Given the description of an element on the screen output the (x, y) to click on. 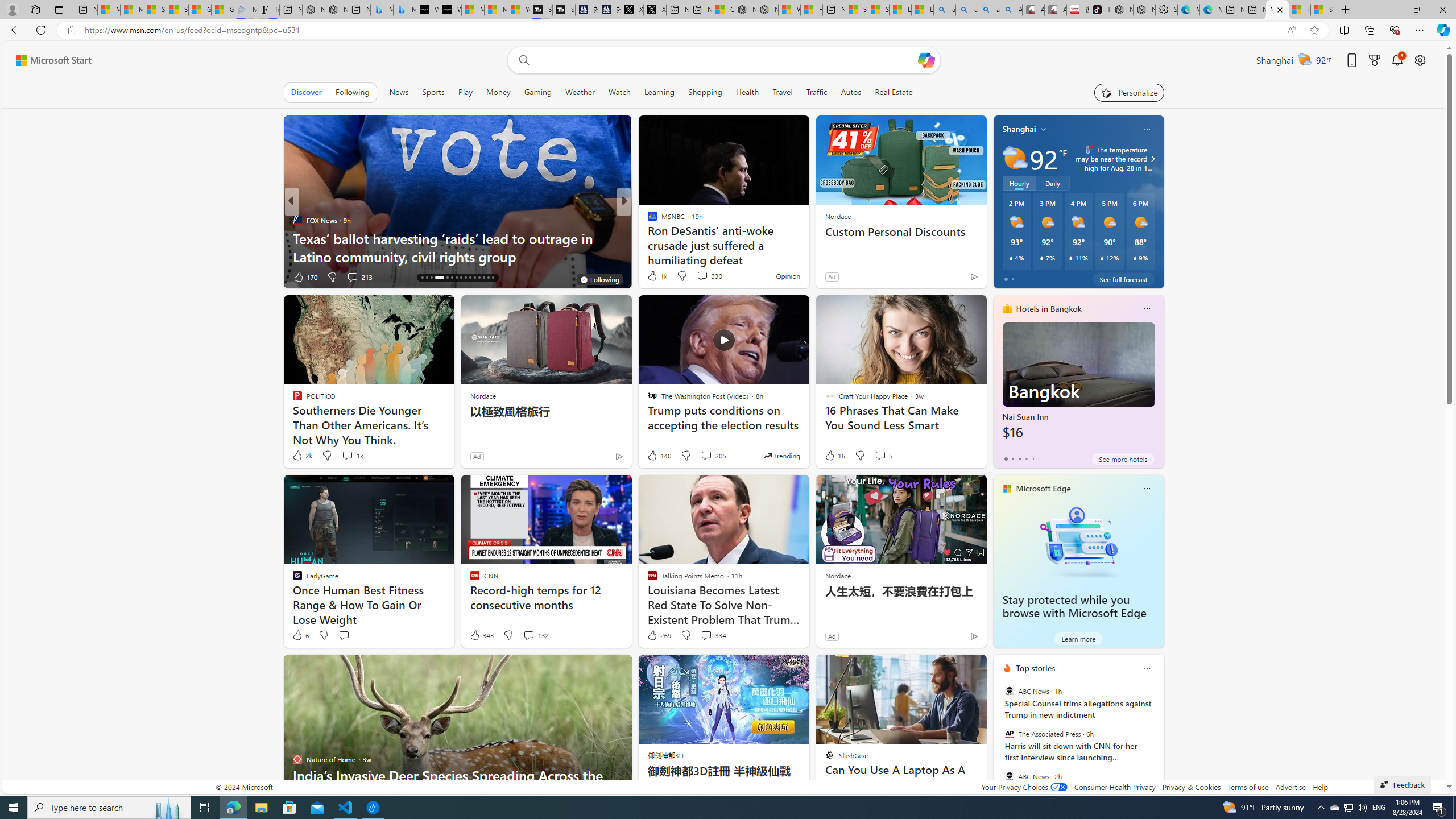
Microsoft Bing Travel - Shangri-La Hotel Bangkok (404, 9)
Your Privacy Choices (1024, 786)
tab-0 (1005, 458)
Weather (579, 92)
View comments 330 Comment (708, 275)
Real Estate (893, 92)
